Given the description of an element on the screen output the (x, y) to click on. 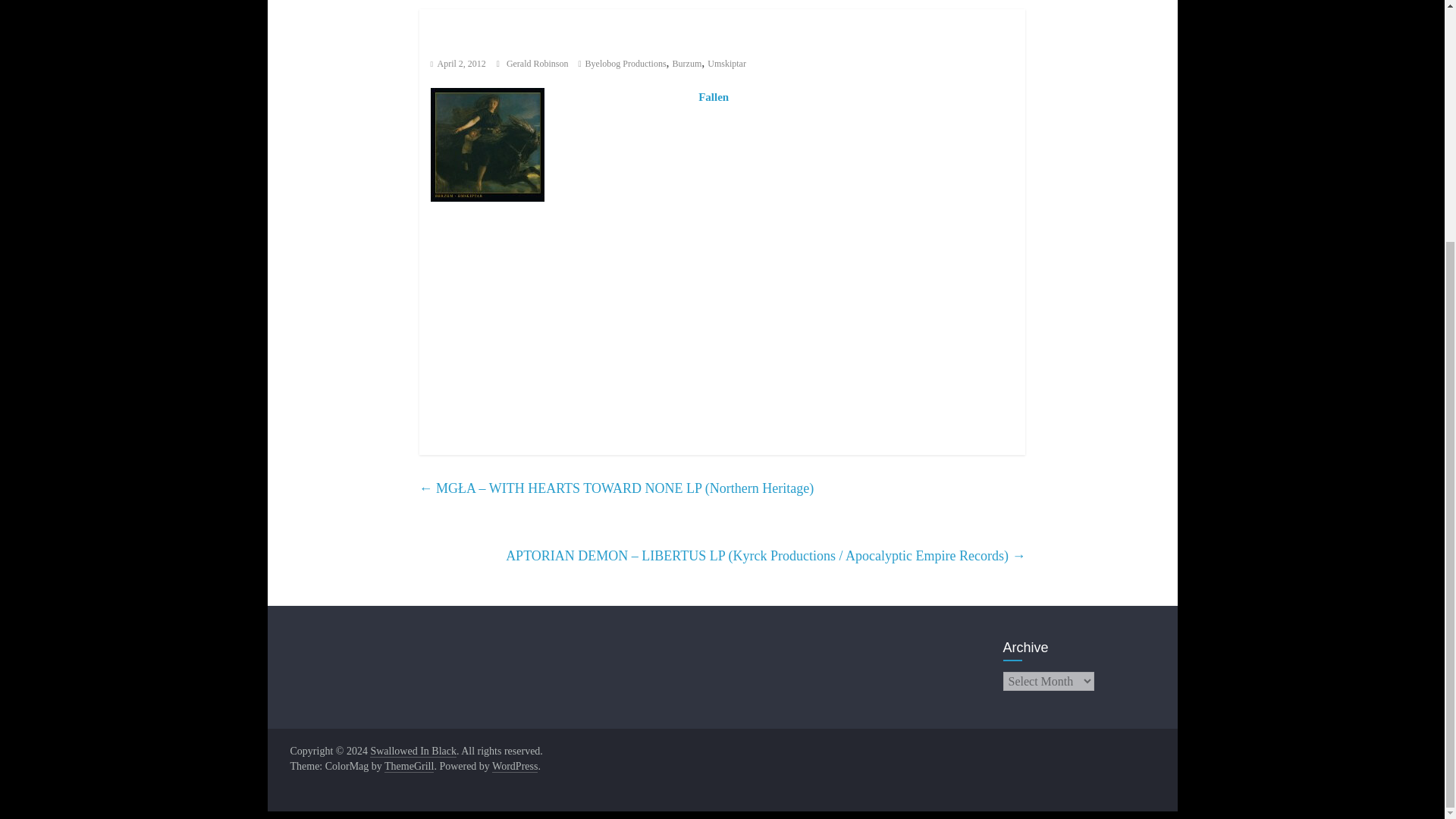
Umskiptar (726, 63)
April 2, 2012 (458, 63)
Swallowed In Black (413, 751)
Gerald Robinson (538, 63)
ThemeGrill (408, 766)
Byelobog Productions (625, 63)
Swallowed In Black (413, 751)
Burzum (686, 63)
Fallen (713, 96)
Burzum - Umskiptar (487, 144)
